Given the description of an element on the screen output the (x, y) to click on. 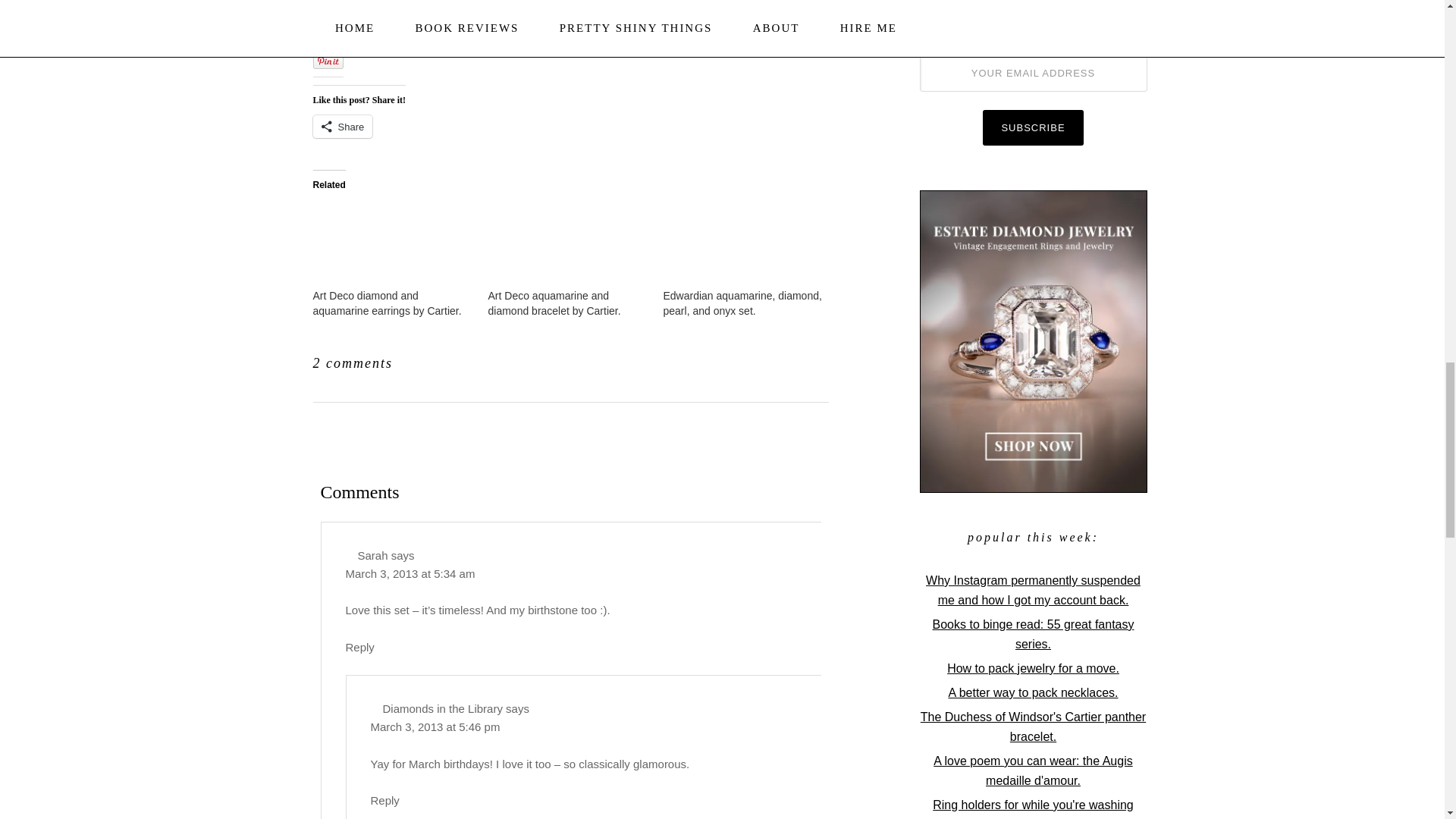
Pinterest (804, 361)
currently for sale (470, 24)
Share on Facebook (759, 361)
Tweet This Post (775, 361)
Edwardian aquamarine, diamond, pearl, and onyx set. (742, 245)
Art Deco diamond and aquamarine earrings by Cartier. (387, 302)
Share (342, 126)
Art Deco aquamarine and diamond bracelet by Cartier. (554, 302)
Art Deco diamond and aquamarine earrings by Cartier. (392, 245)
Art Deco aquamarine and diamond bracelet by Cartier. (554, 302)
Edwardian aquamarine, diamond, pearl, and onyx set. (741, 302)
Art Deco diamond and aquamarine earrings by Cartier. (387, 302)
Art Deco aquamarine and diamond bracelet by Cartier. (567, 245)
Subscribe (1032, 127)
